Given the description of an element on the screen output the (x, y) to click on. 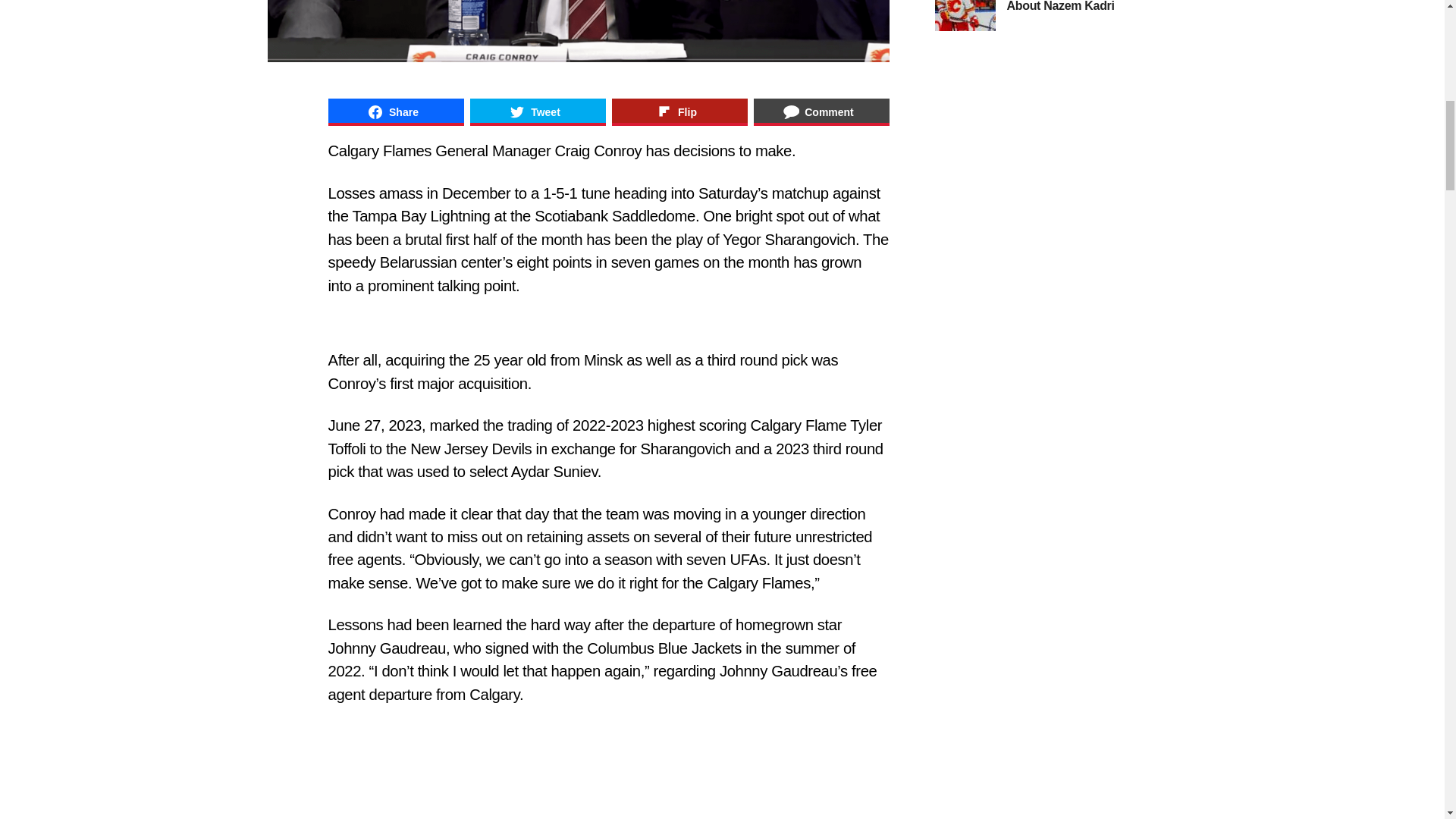
Share on Tweet (537, 112)
Share on Flip (678, 112)
Share on Share (395, 112)
Share on Comment (821, 112)
